Given the description of an element on the screen output the (x, y) to click on. 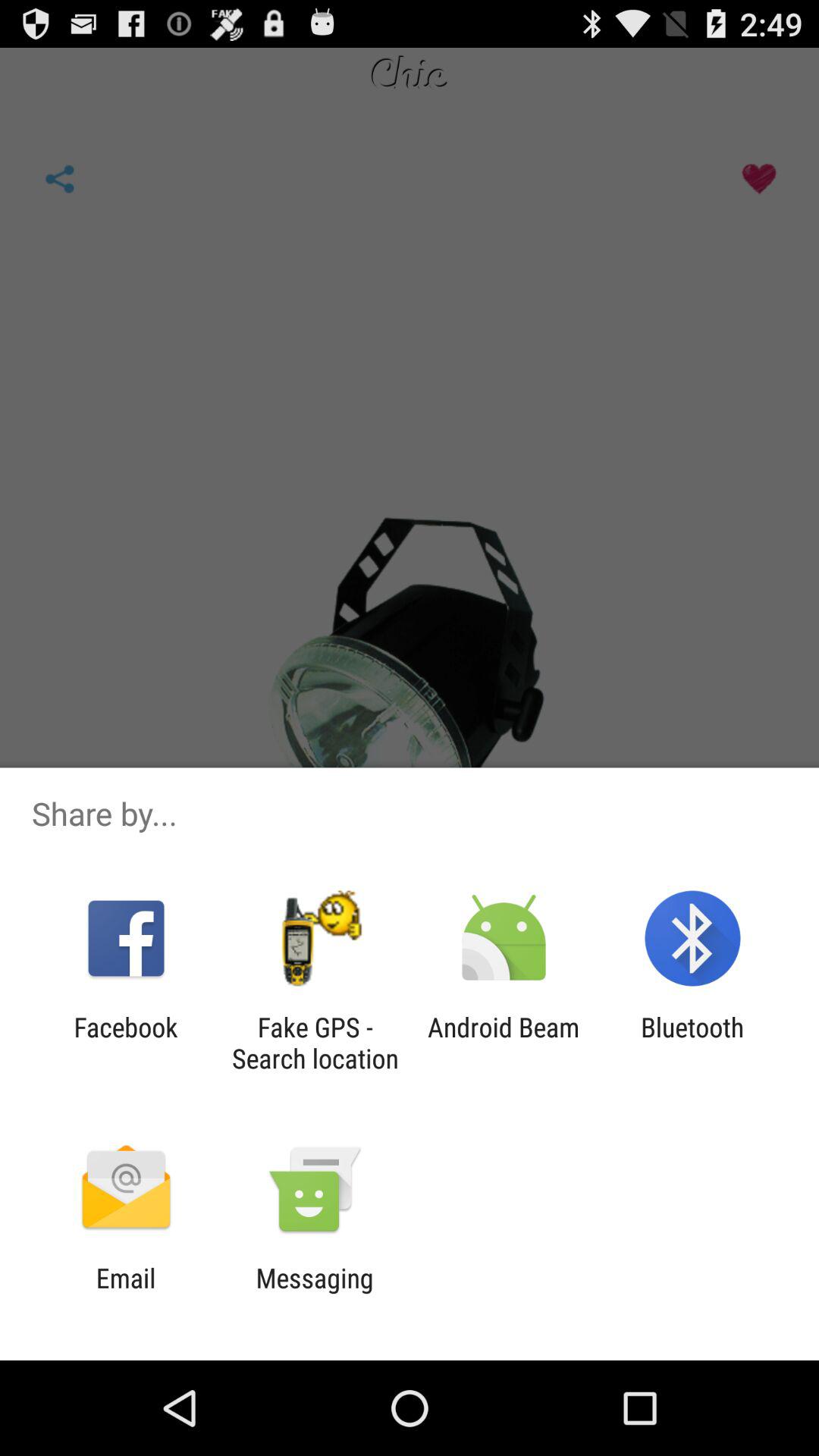
flip to fake gps search icon (314, 1042)
